Given the description of an element on the screen output the (x, y) to click on. 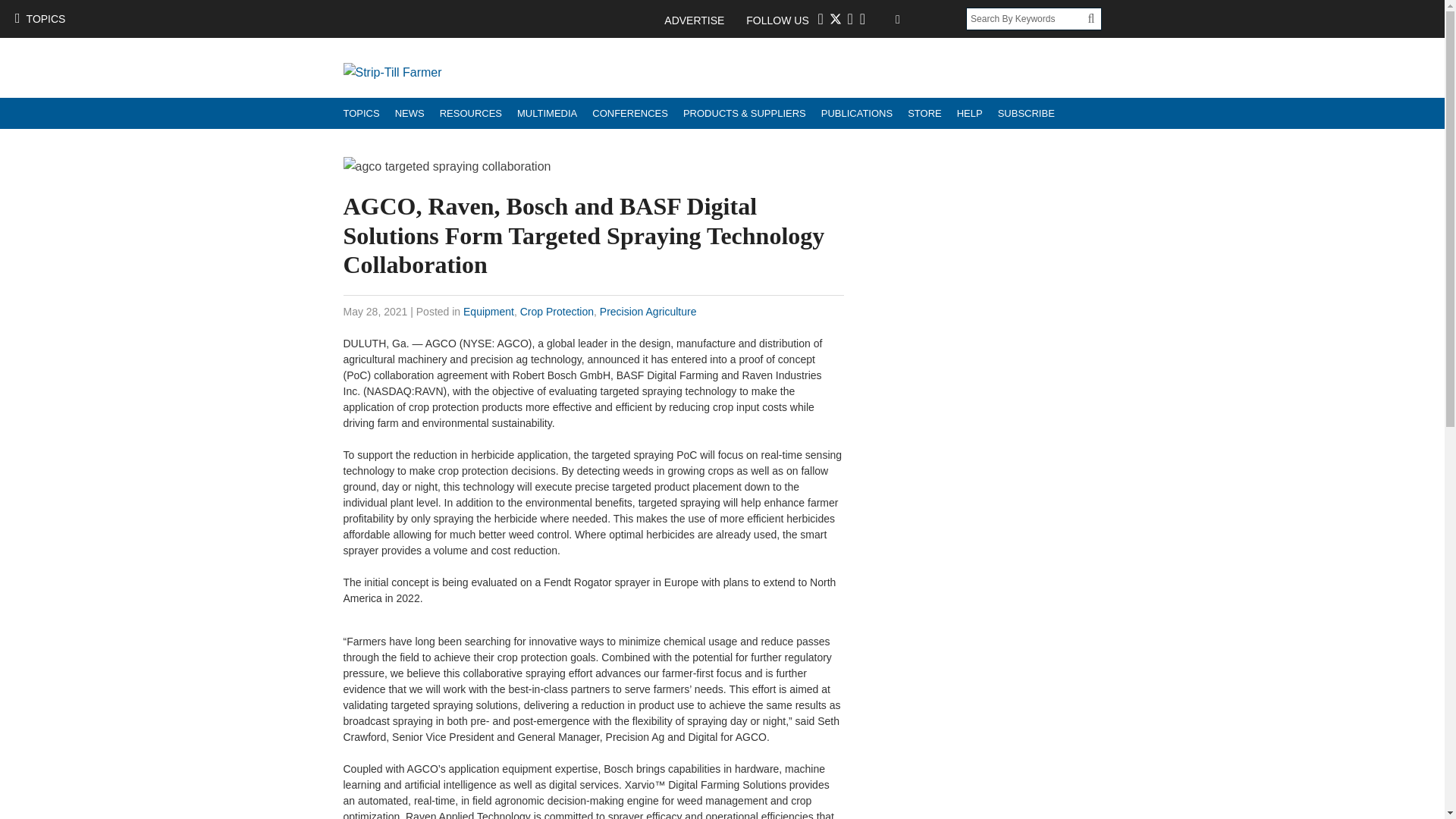
TOPICS (39, 18)
TOPICS (360, 112)
Search By Keywords (1026, 18)
ADVERTISE (701, 20)
NEWS (409, 112)
Search By Keywords (1026, 18)
